Given the description of an element on the screen output the (x, y) to click on. 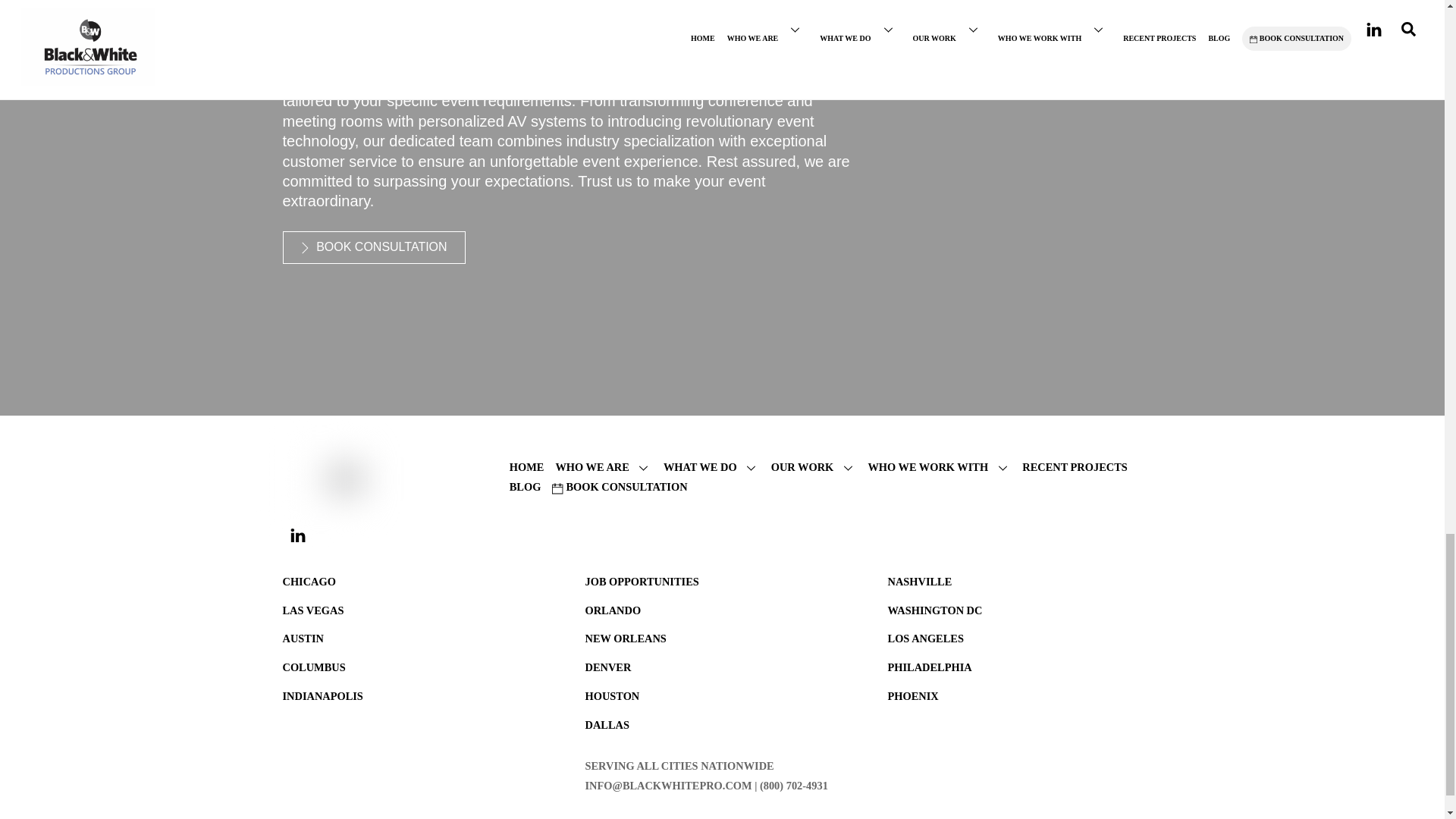
BOOK CONSULTATION (373, 246)
HOME (526, 467)
WHO WE ARE (602, 467)
01black (320, 479)
